Given the description of an element on the screen output the (x, y) to click on. 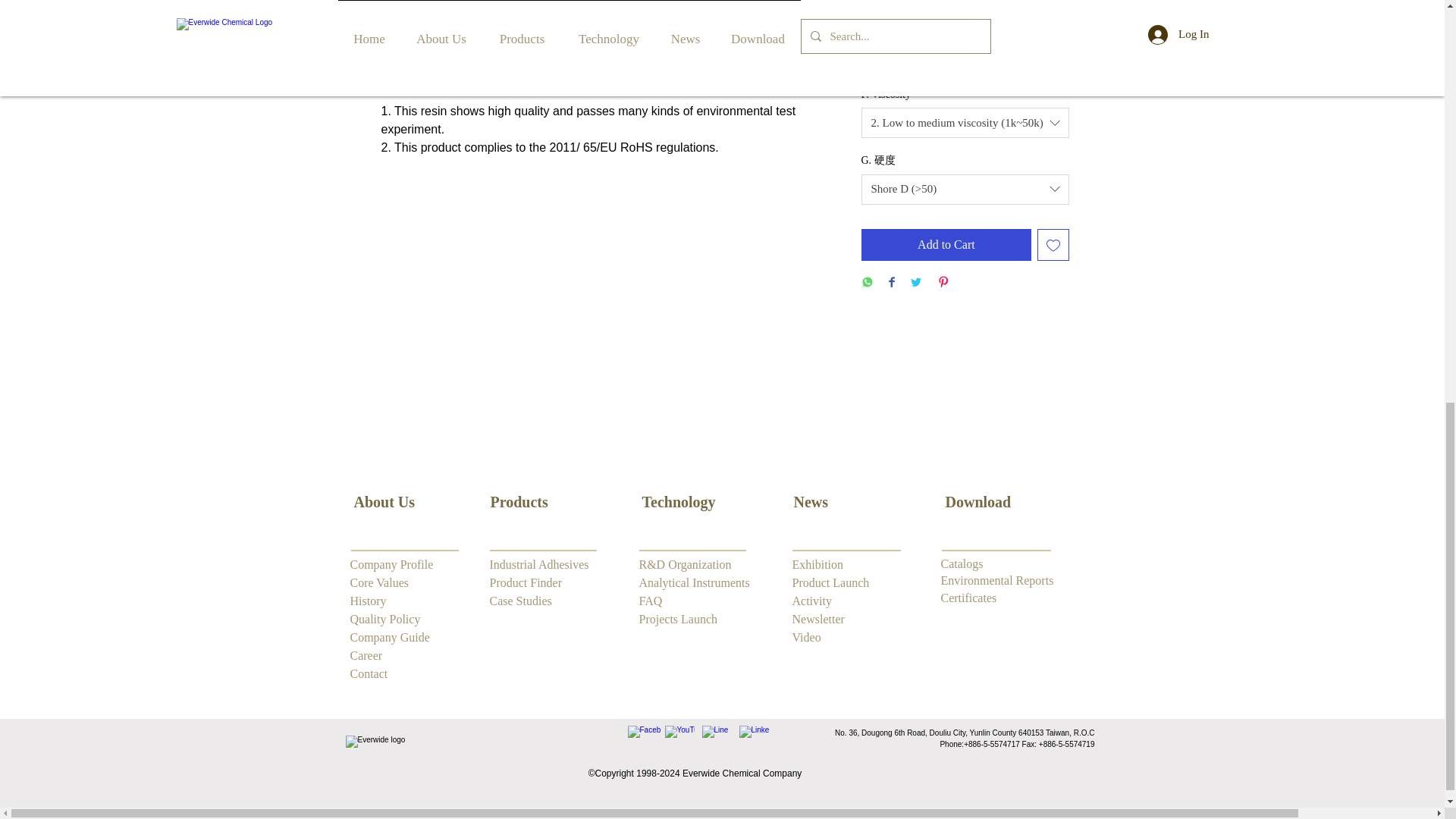
Use right and left arrows to navigate between tabs (803, 63)
Use right and left arrows to navigate between tabs (518, 63)
Use right and left arrows to navigate between tabs (411, 63)
Add to Cart (946, 245)
Use right and left arrows to navigate between tabs (663, 63)
Select (965, 7)
